Given the description of an element on the screen output the (x, y) to click on. 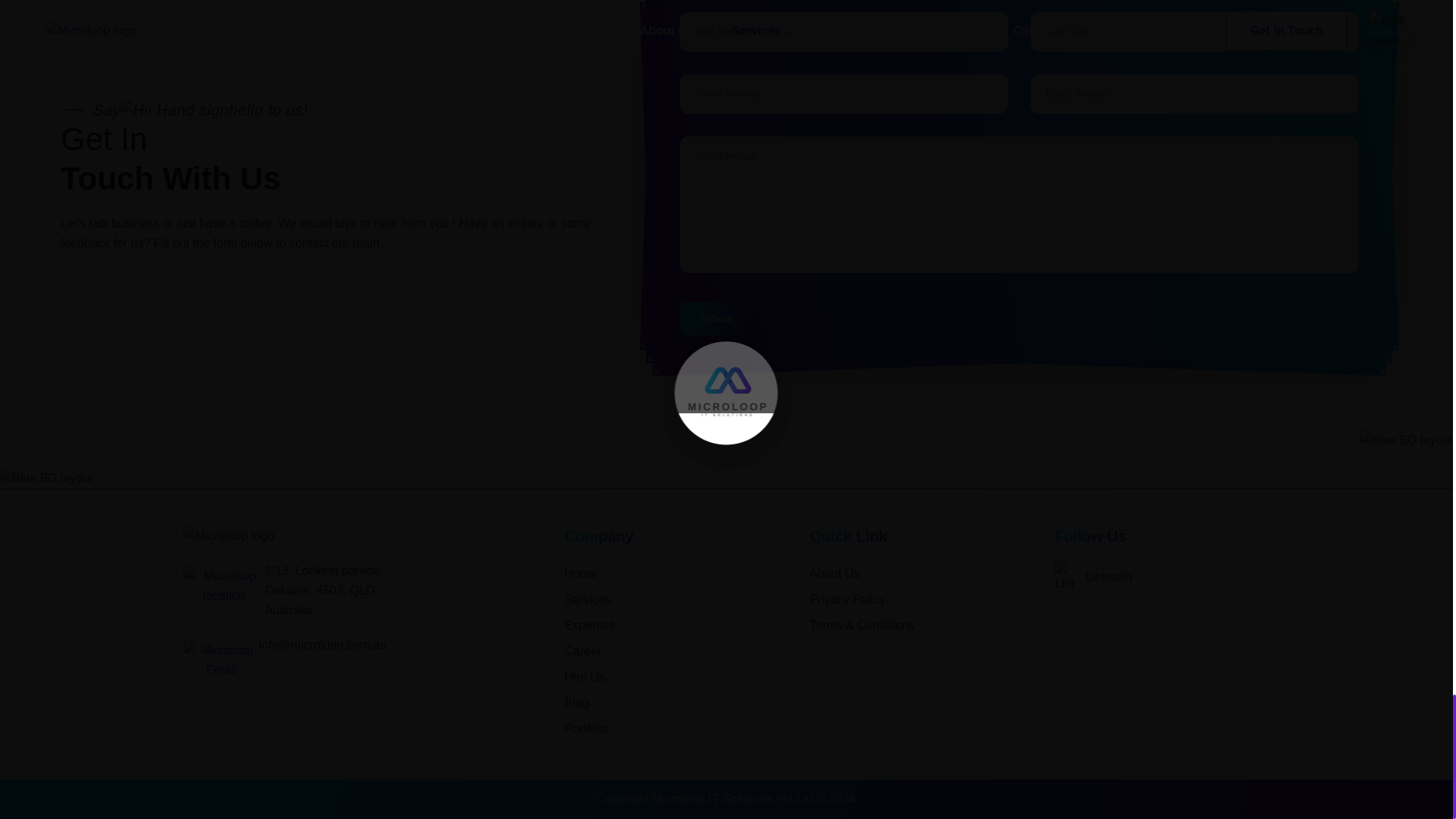
Submit (720, 321)
